Given the description of an element on the screen output the (x, y) to click on. 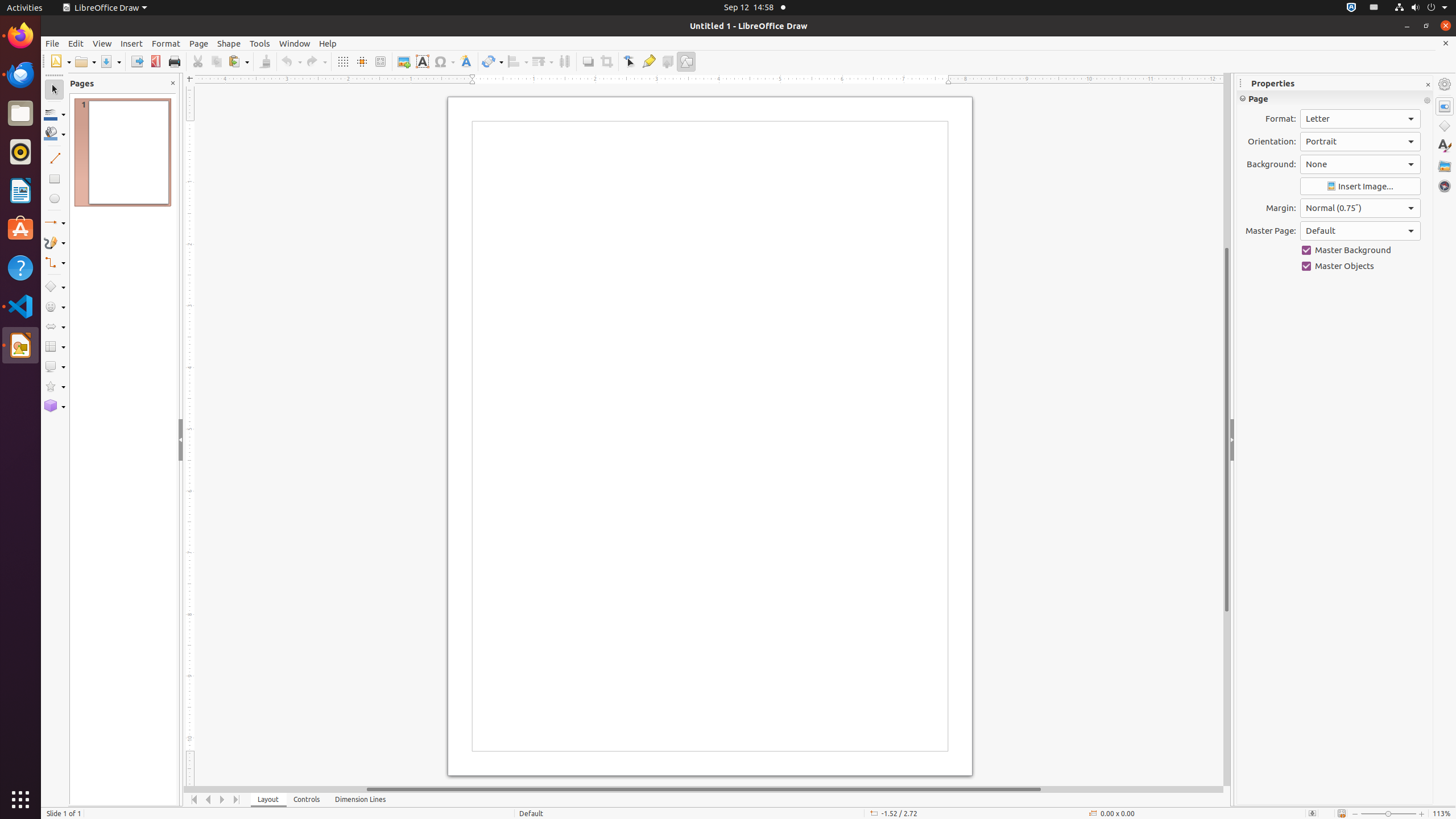
Move Right Element type: push-button (222, 799)
Clone Element type: push-button (264, 61)
Distribution Element type: push-button (564, 61)
LibreOffice Draw Element type: push-button (20, 344)
PDF Element type: push-button (155, 61)
